Given the description of an element on the screen output the (x, y) to click on. 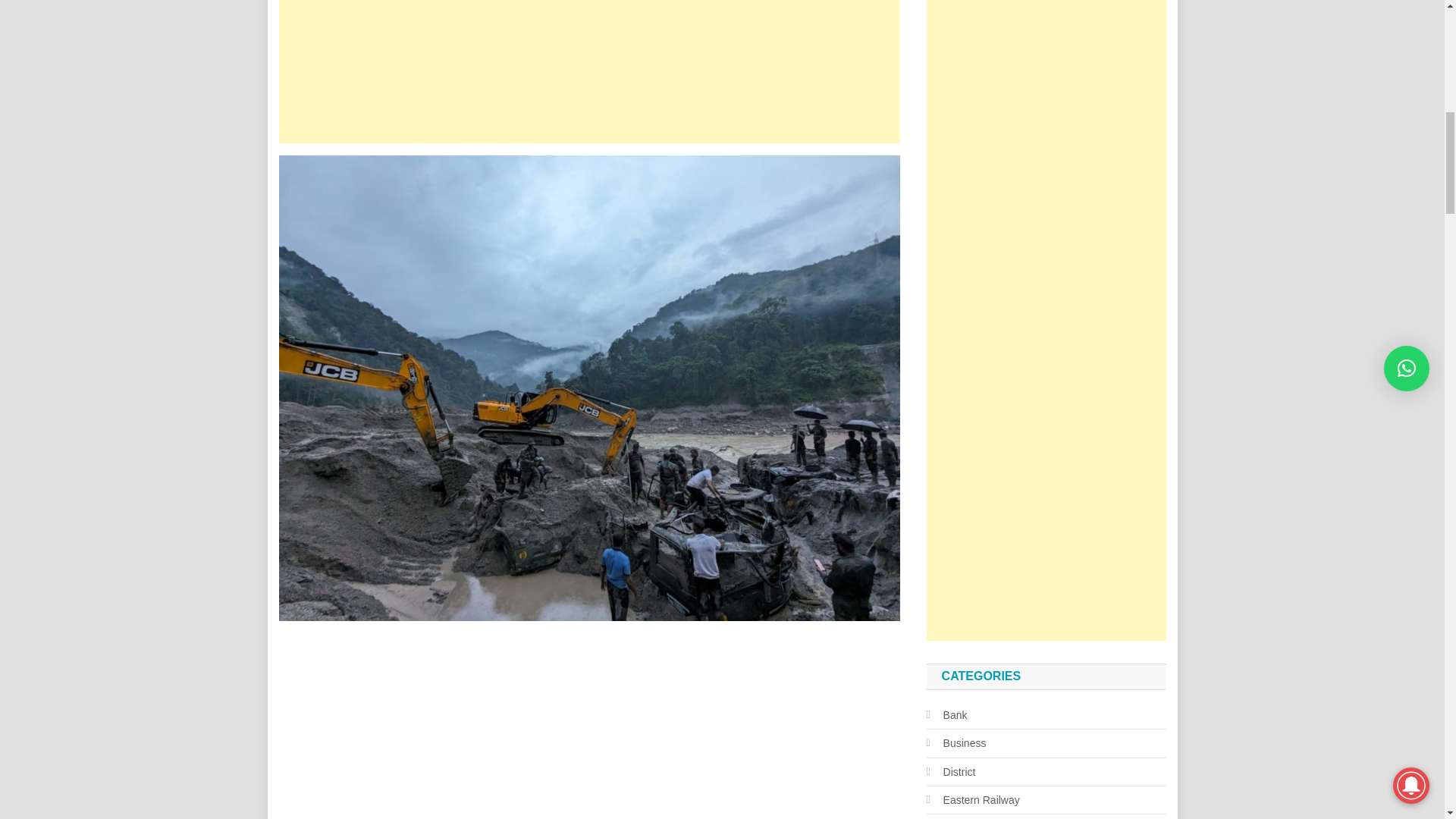
Advertisement (589, 71)
